Given the description of an element on the screen output the (x, y) to click on. 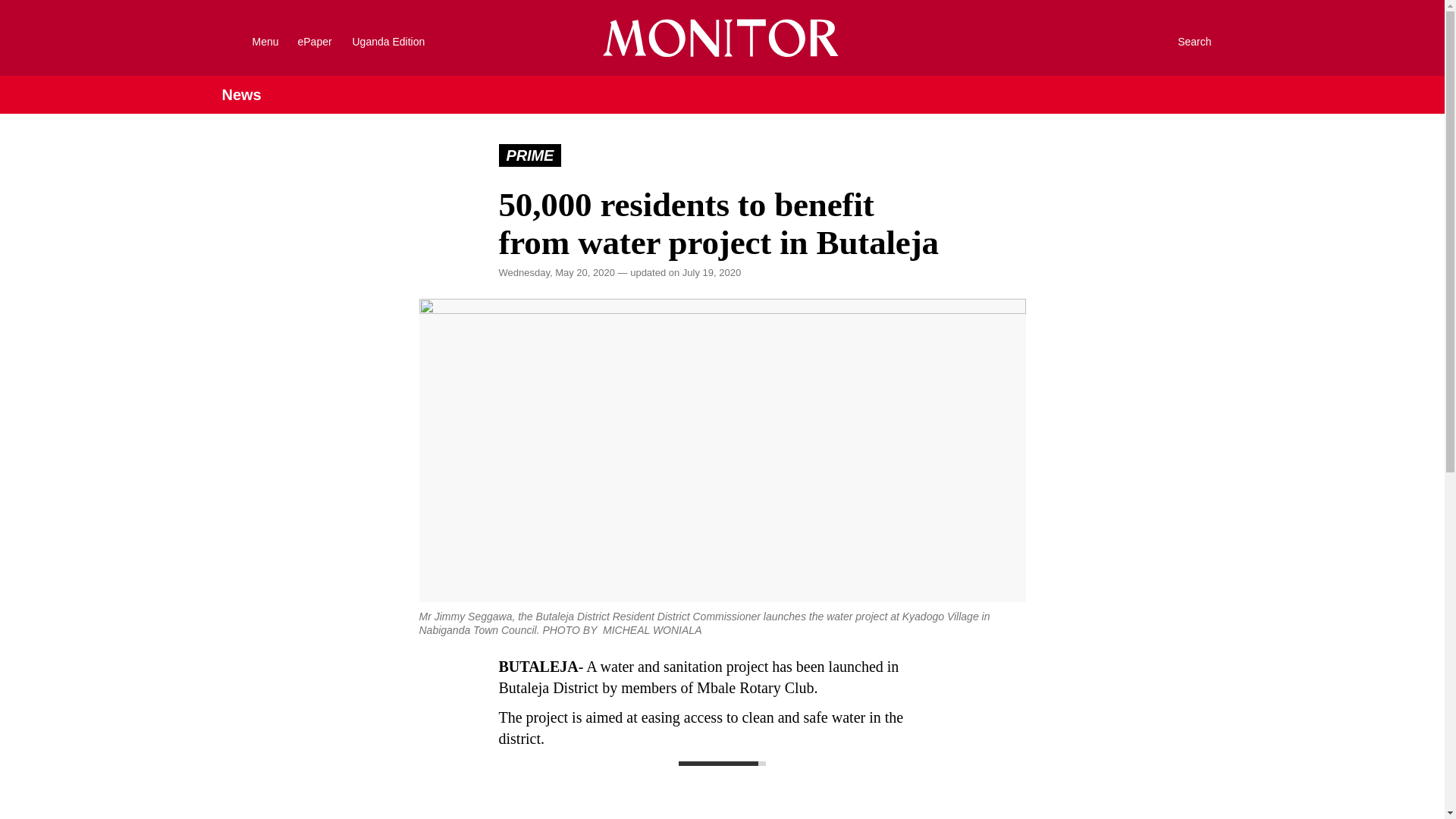
ePaper (314, 41)
Search (1178, 41)
Uganda Edition (401, 41)
Menu (246, 41)
News (240, 94)
